Given the description of an element on the screen output the (x, y) to click on. 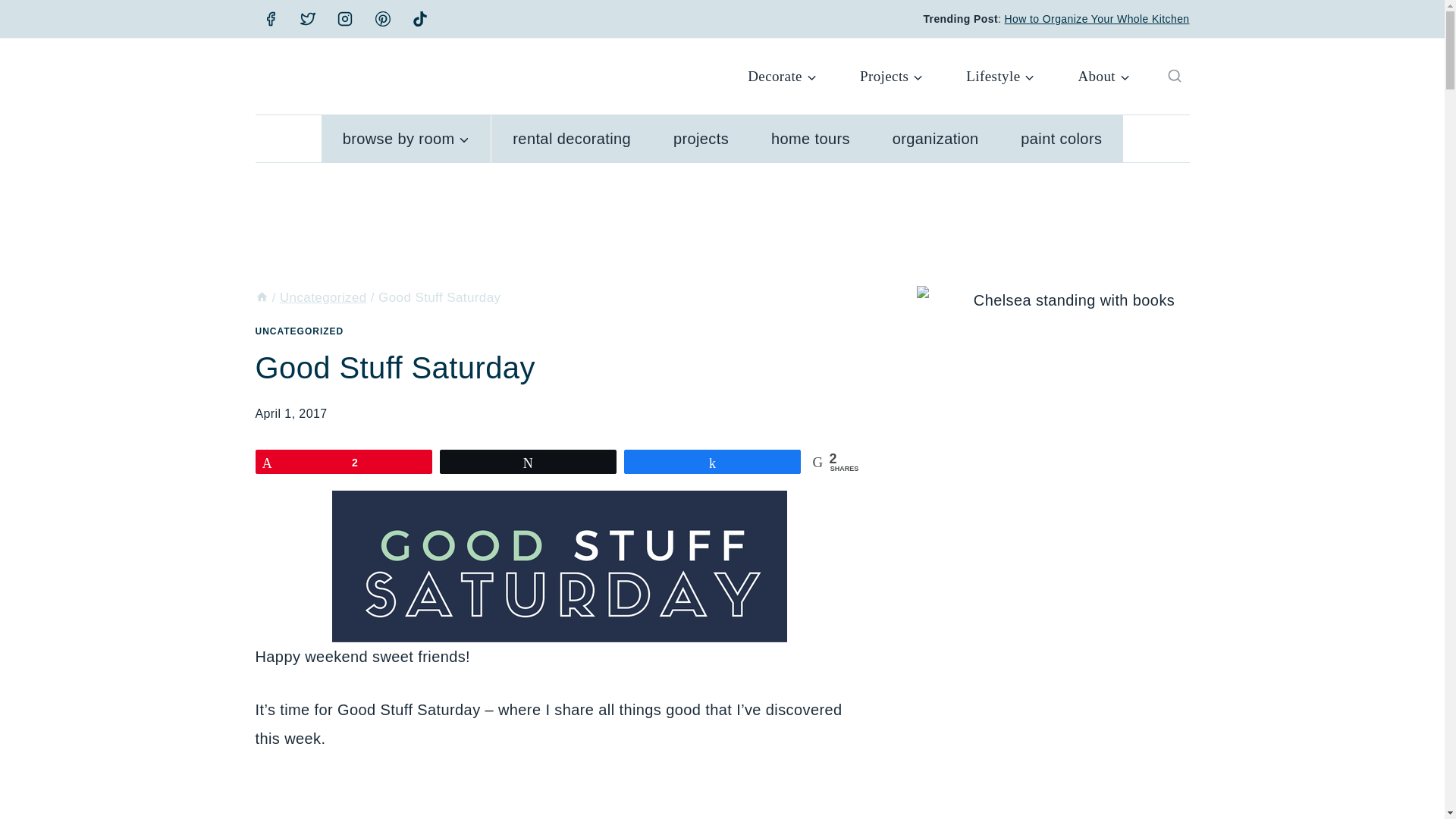
Lifestyle (1000, 76)
About (1104, 76)
Projects (890, 76)
browse by room (406, 138)
Decorate (782, 76)
How to Organize Your Whole Kitchen (1096, 19)
Home (260, 297)
